Given the description of an element on the screen output the (x, y) to click on. 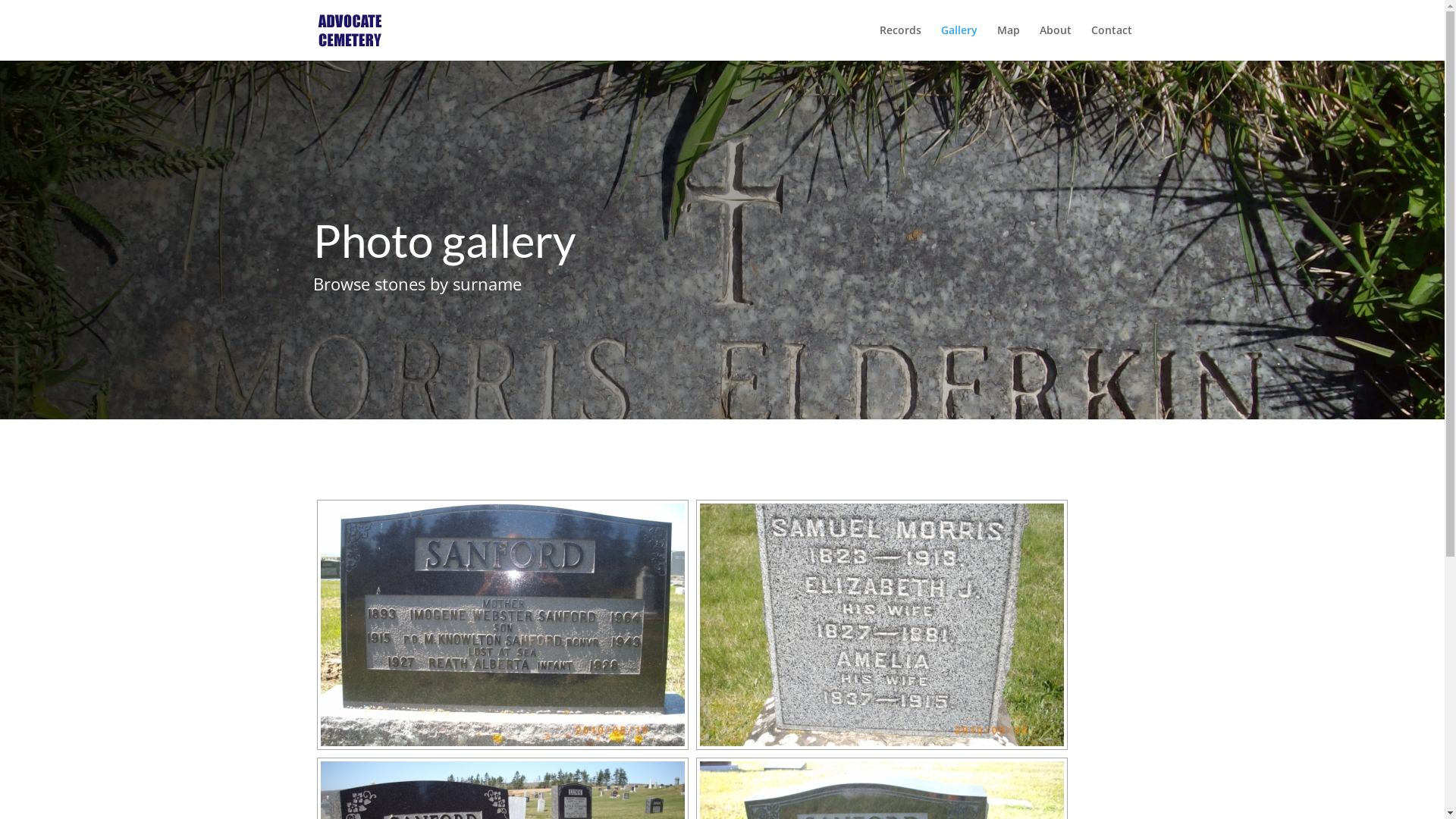
IMGP1022 (Large) Element type: hover (881, 624)
Map Element type: text (1007, 42)
Records Element type: text (900, 42)
About Element type: text (1054, 42)
Gallery Element type: text (958, 42)
Contact Element type: text (1110, 42)
IMGP0789 (Large) Element type: hover (502, 624)
